Given the description of an element on the screen output the (x, y) to click on. 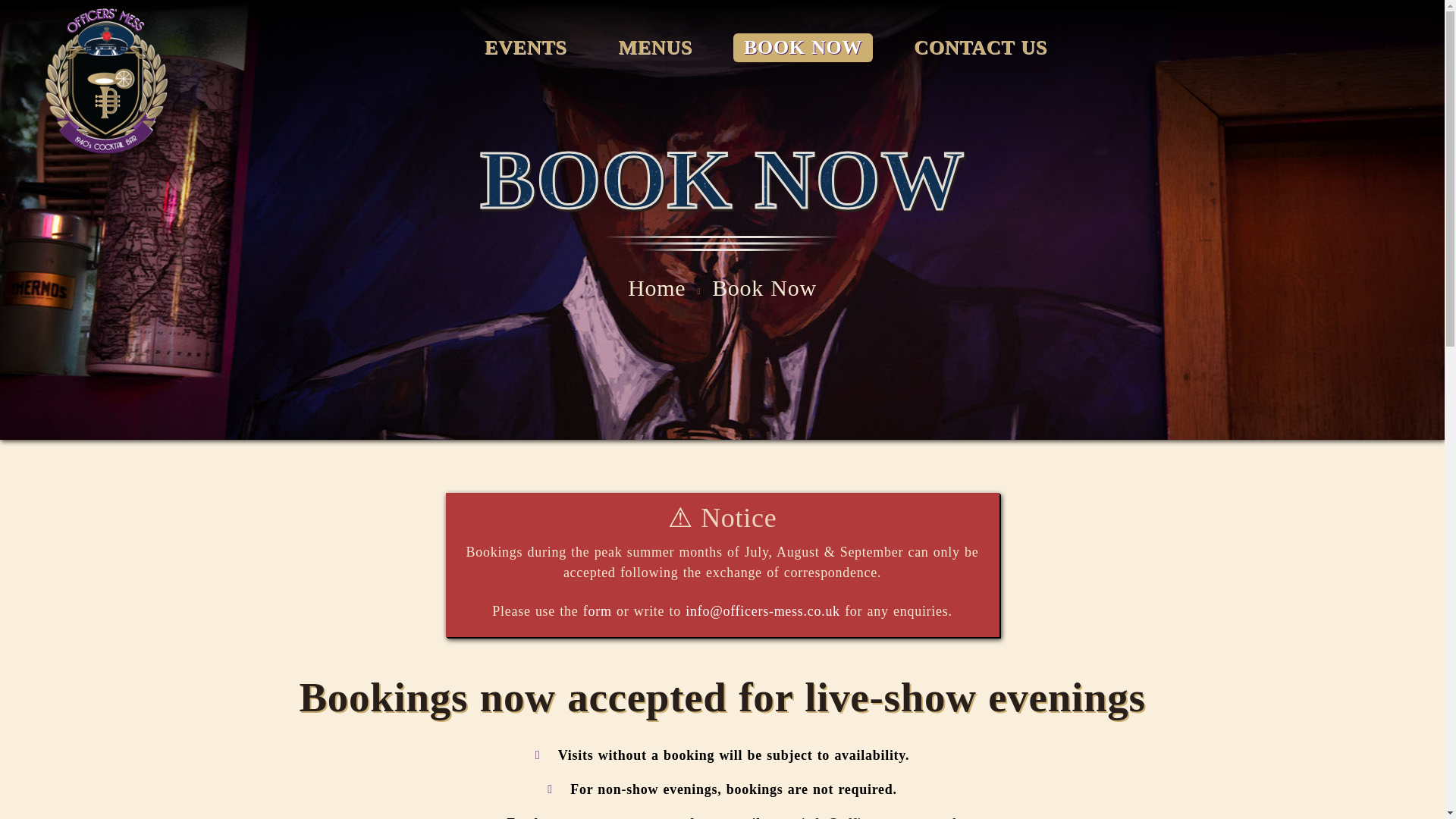
Home (656, 287)
CONTACT US (980, 47)
form (597, 611)
BOOK NOW (802, 47)
EVENTS (525, 47)
MENUS (655, 47)
